Given the description of an element on the screen output the (x, y) to click on. 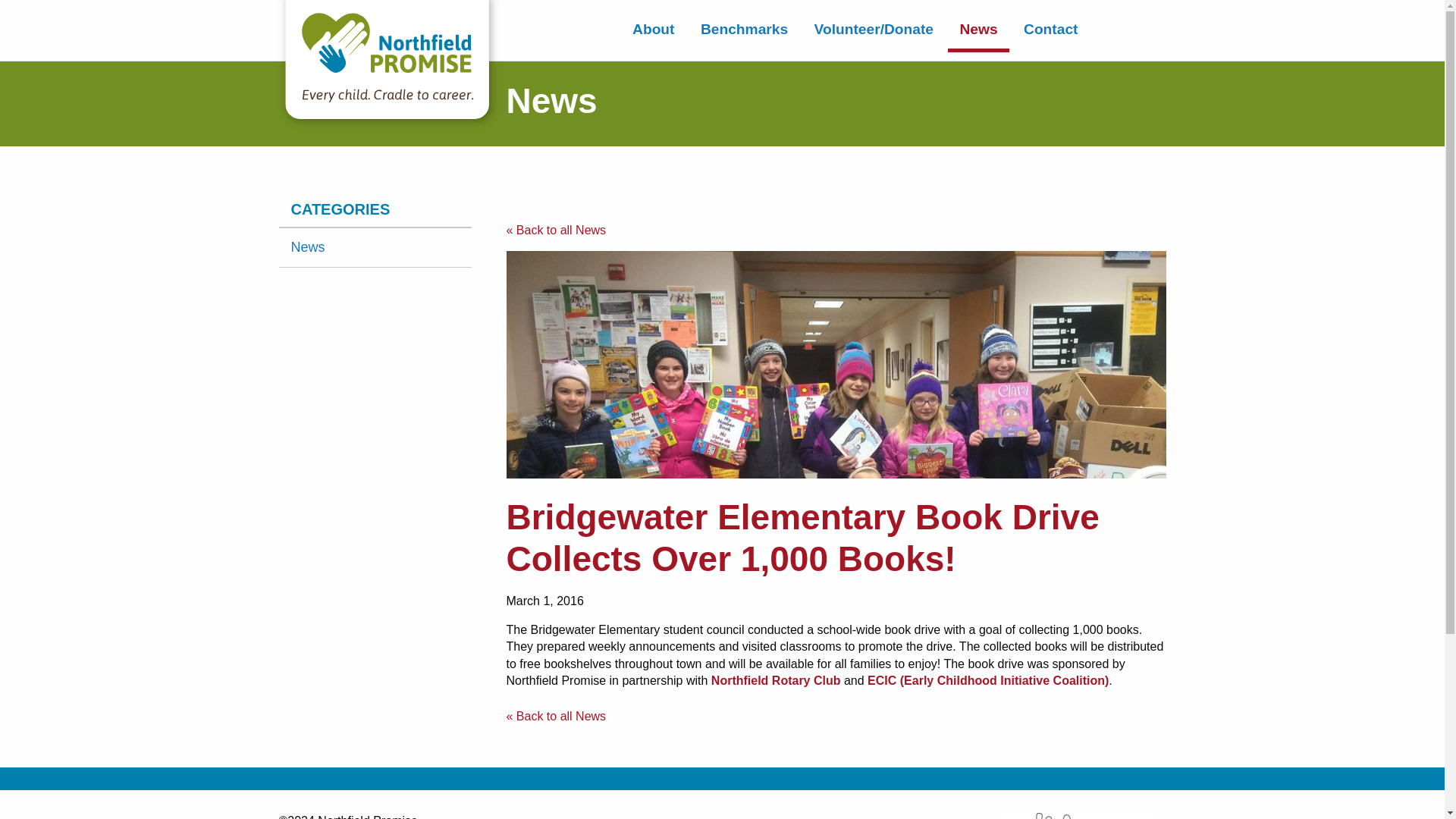
About (653, 28)
Contact (1050, 28)
Northfield Rotary Club (776, 680)
News (375, 247)
News (978, 28)
Benchmarks (743, 28)
